Given the description of an element on the screen output the (x, y) to click on. 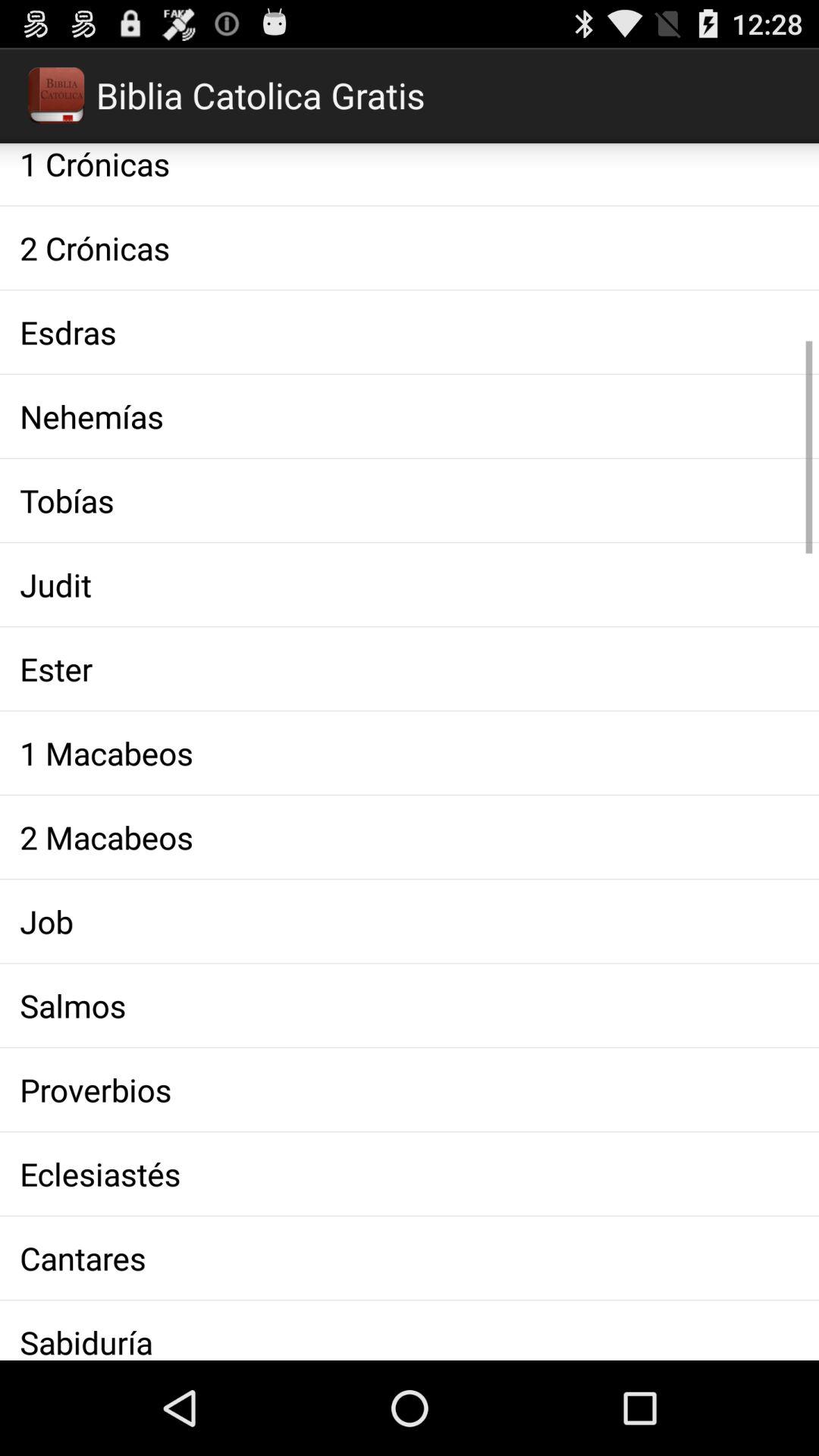
tap the judit app (409, 584)
